Given the description of an element on the screen output the (x, y) to click on. 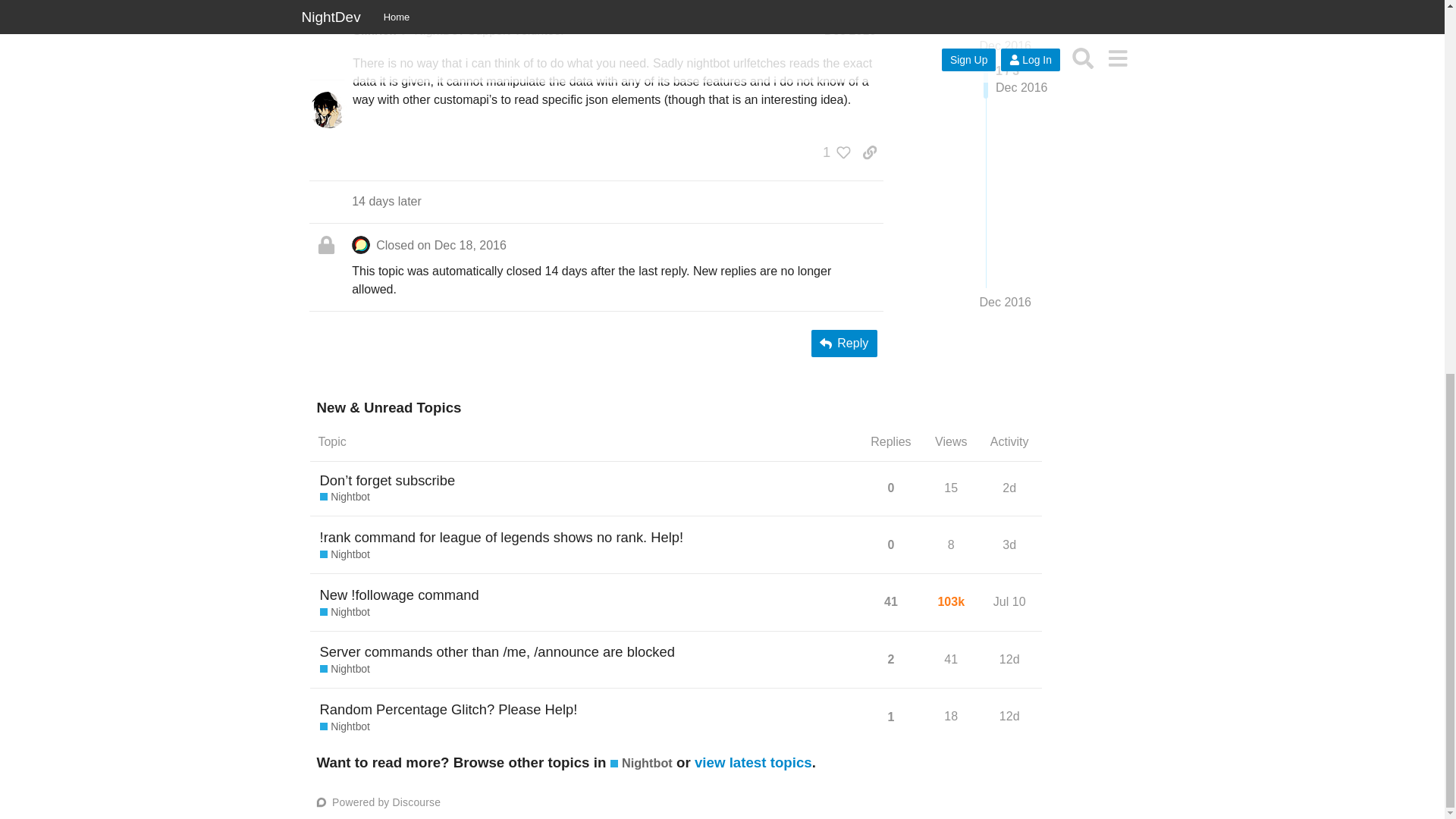
This user is a moderator (403, 30)
!rank command for league of legends shows no rank. Help! (502, 536)
1 (832, 152)
Privacy Policy (379, 2)
Post date (374, 8)
Nightbot (850, 30)
Dec 2016 (344, 497)
Reply (850, 30)
1 person liked this post (843, 343)
